Given the description of an element on the screen output the (x, y) to click on. 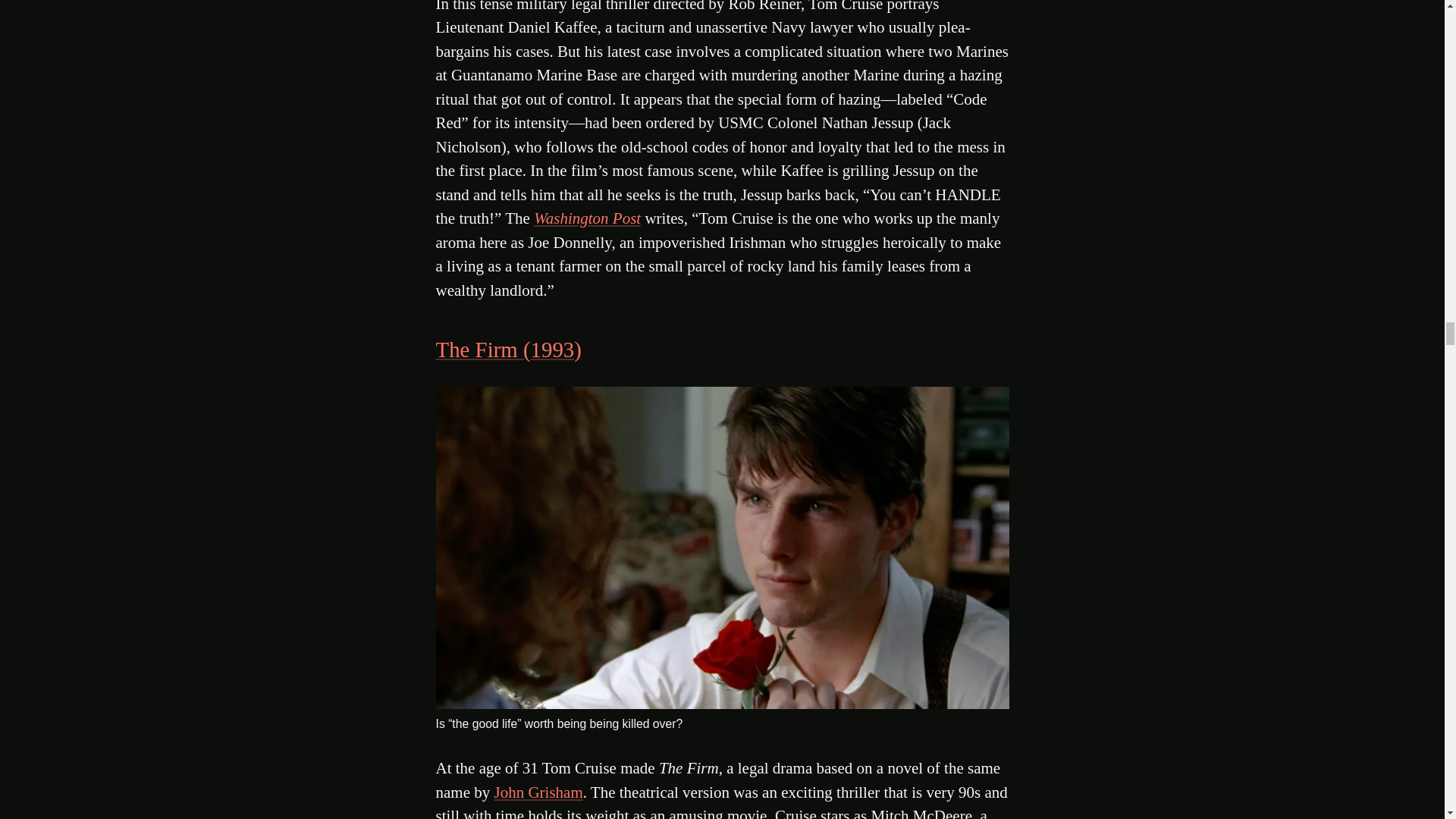
Washington Post (587, 218)
